Given the description of an element on the screen output the (x, y) to click on. 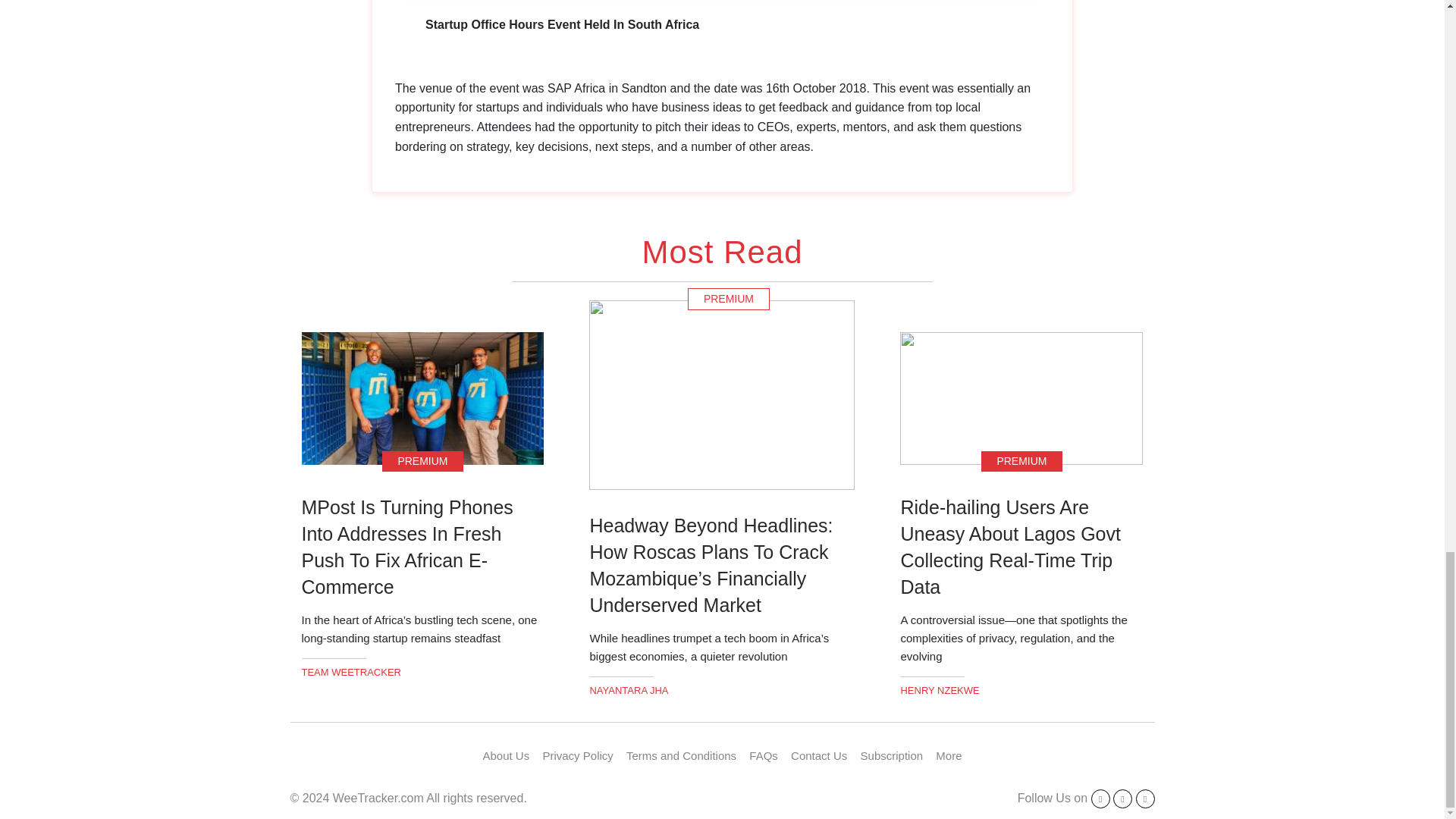
Posts by Andrew Christian (628, 690)
Posts by Andrew Christian (938, 690)
Posts by Andrew Christian (351, 672)
